Given the description of an element on the screen output the (x, y) to click on. 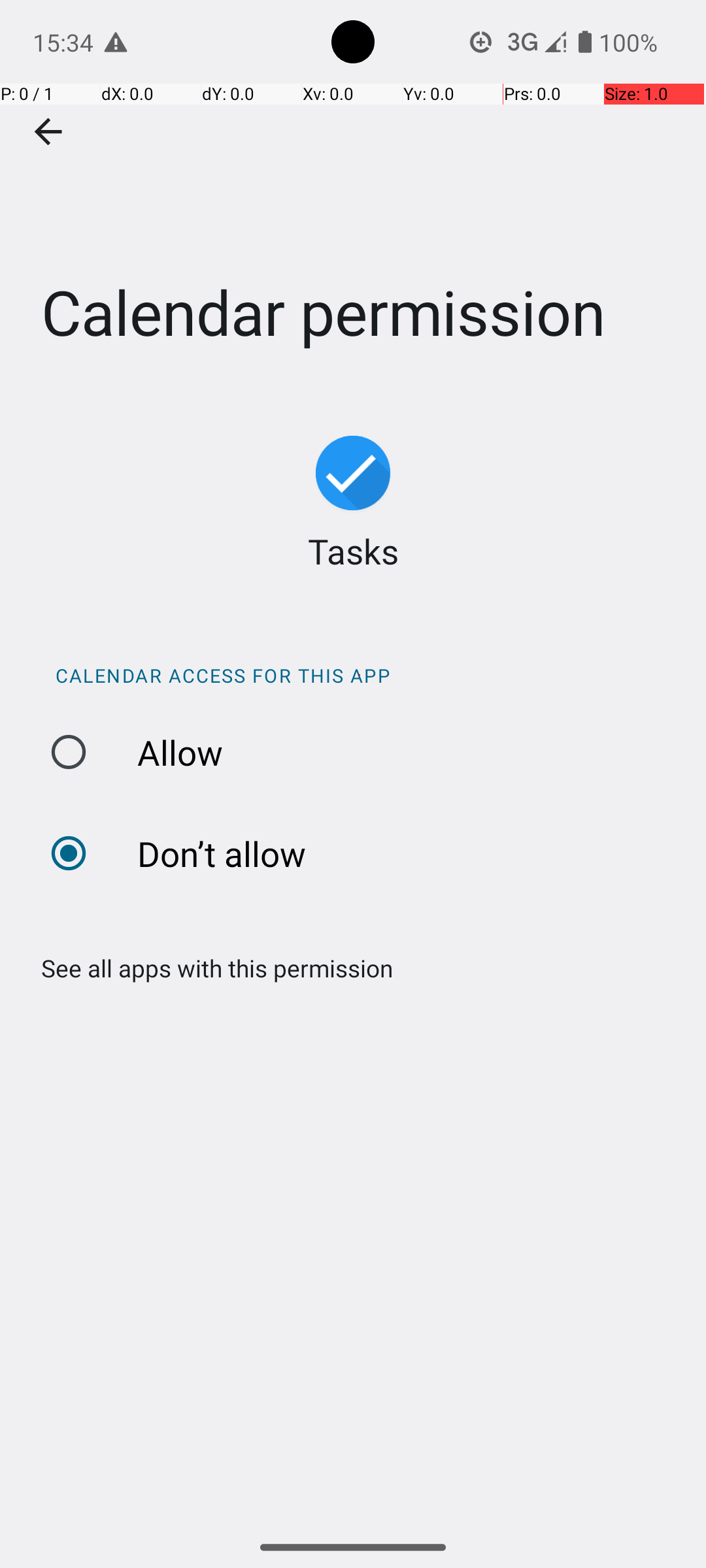
Calendar permission Element type: android.widget.FrameLayout (353, 195)
CALENDAR ACCESS FOR THIS APP Element type: android.widget.TextView (359, 674)
See all apps with this permission Element type: android.widget.TextView (210, 967)
Allow Element type: android.widget.RadioButton (359, 752)
